Given the description of an element on the screen output the (x, y) to click on. 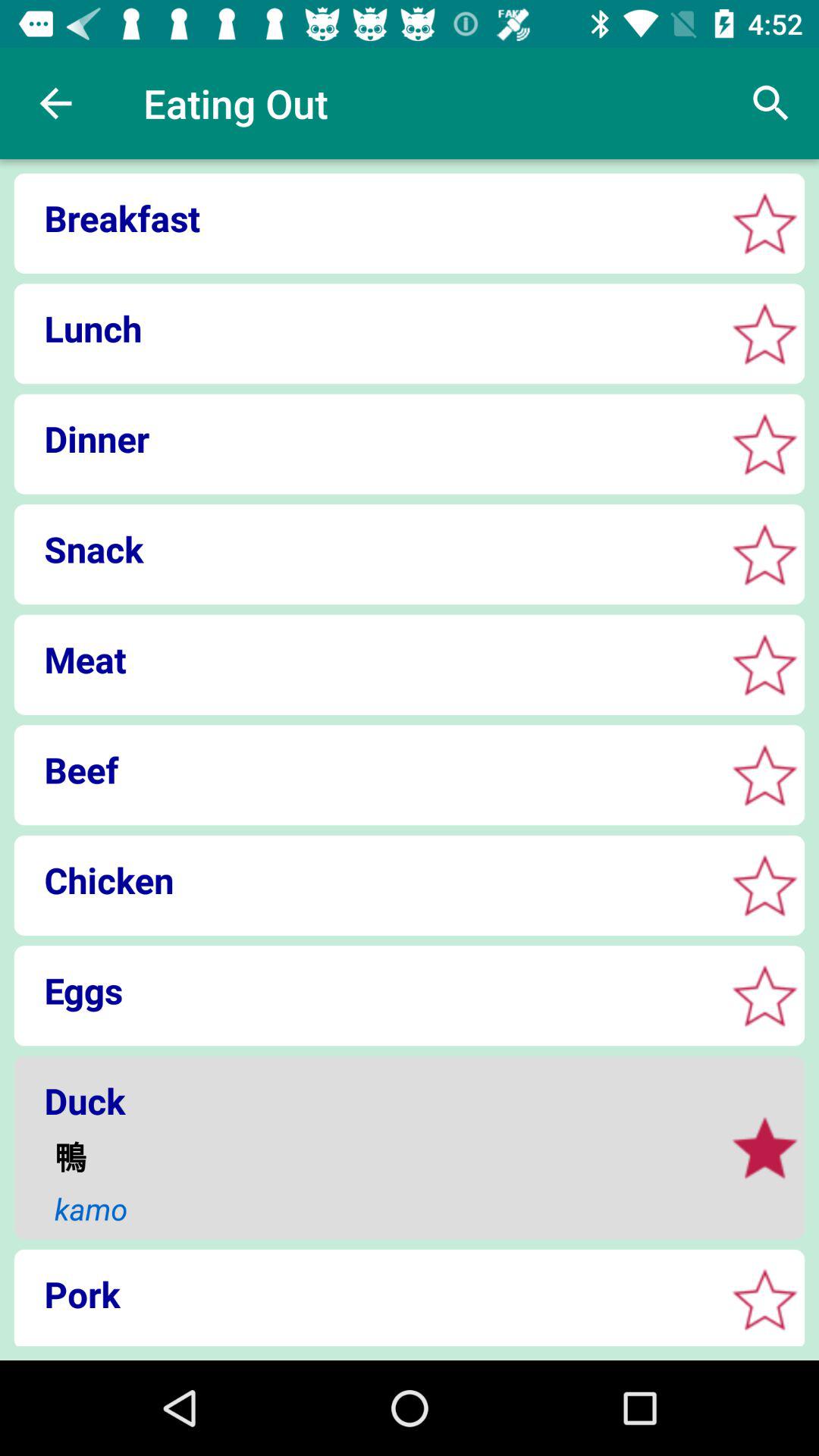
flip to the chicken icon (364, 879)
